Given the description of an element on the screen output the (x, y) to click on. 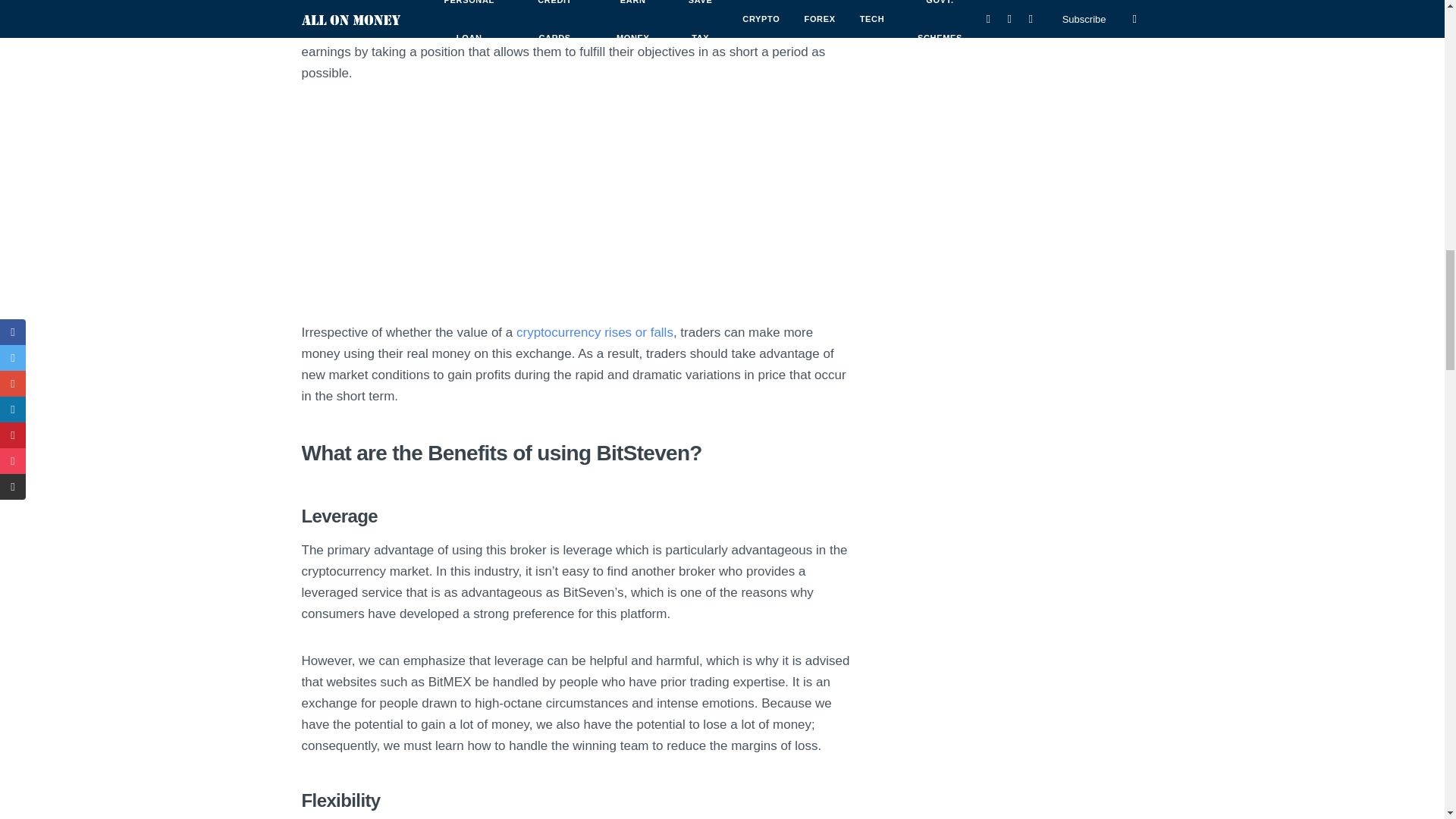
Advertisement (578, 215)
cryptocurrency rises or falls (594, 332)
